Given the description of an element on the screen output the (x, y) to click on. 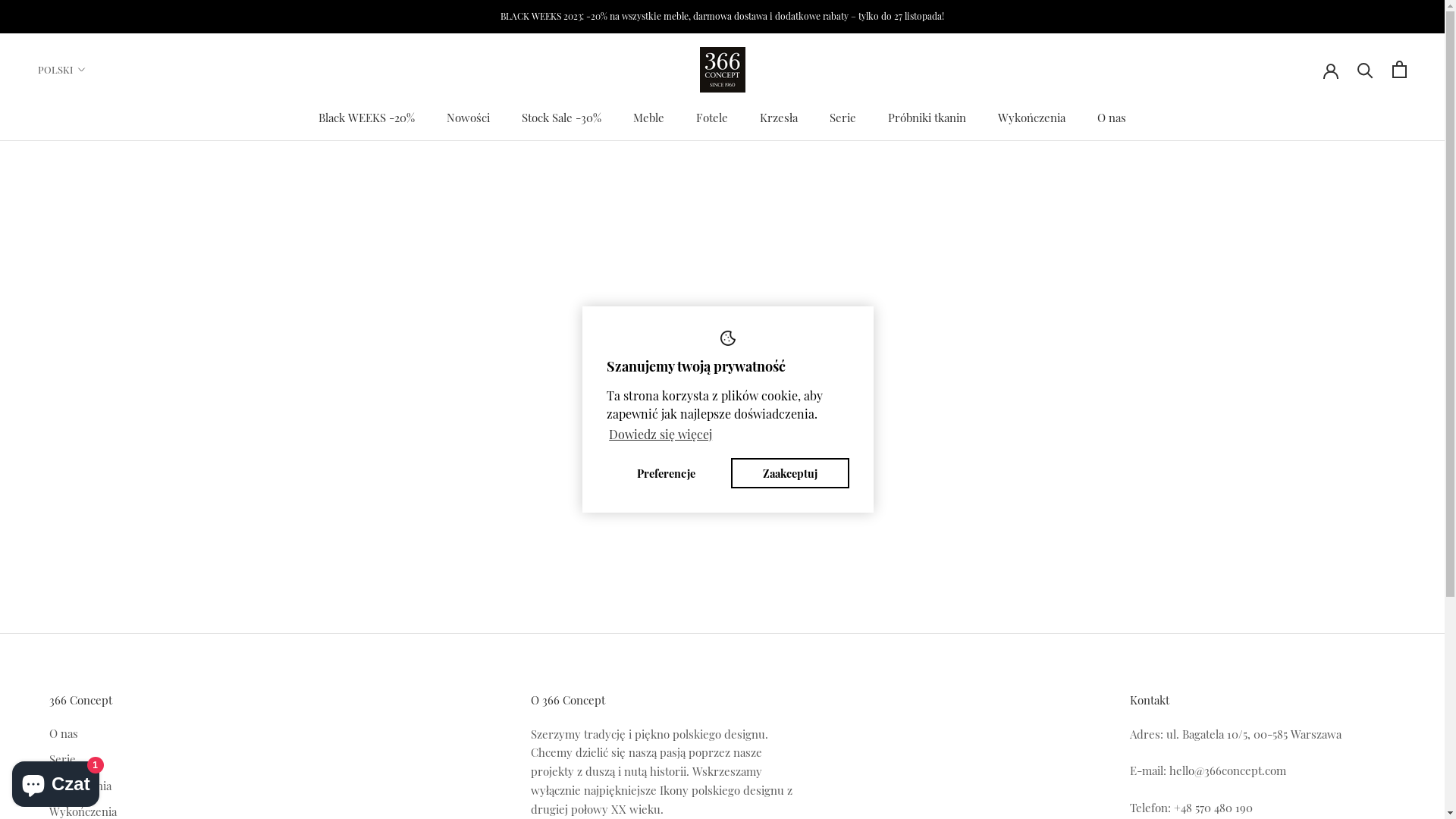
Do pobrania Element type: text (122, 785)
O nas
O nas Element type: text (1111, 117)
Fotele
Fotele Element type: text (712, 117)
O nas Element type: text (122, 733)
Black WEEKS -20%
Black WEEKS -20% Element type: text (366, 117)
POLSKI Element type: text (61, 68)
Serie Element type: text (122, 759)
Meble
Meble Element type: text (648, 117)
pl Element type: text (80, 104)
Stock Sale -30%
Stock Sale -30% Element type: text (561, 117)
Serie
Serie Element type: text (842, 117)
Zaakceptuj Element type: text (790, 473)
Preferencje Element type: text (665, 473)
Czat w sklepie online Shopify Element type: hover (55, 780)
